Given the description of an element on the screen output the (x, y) to click on. 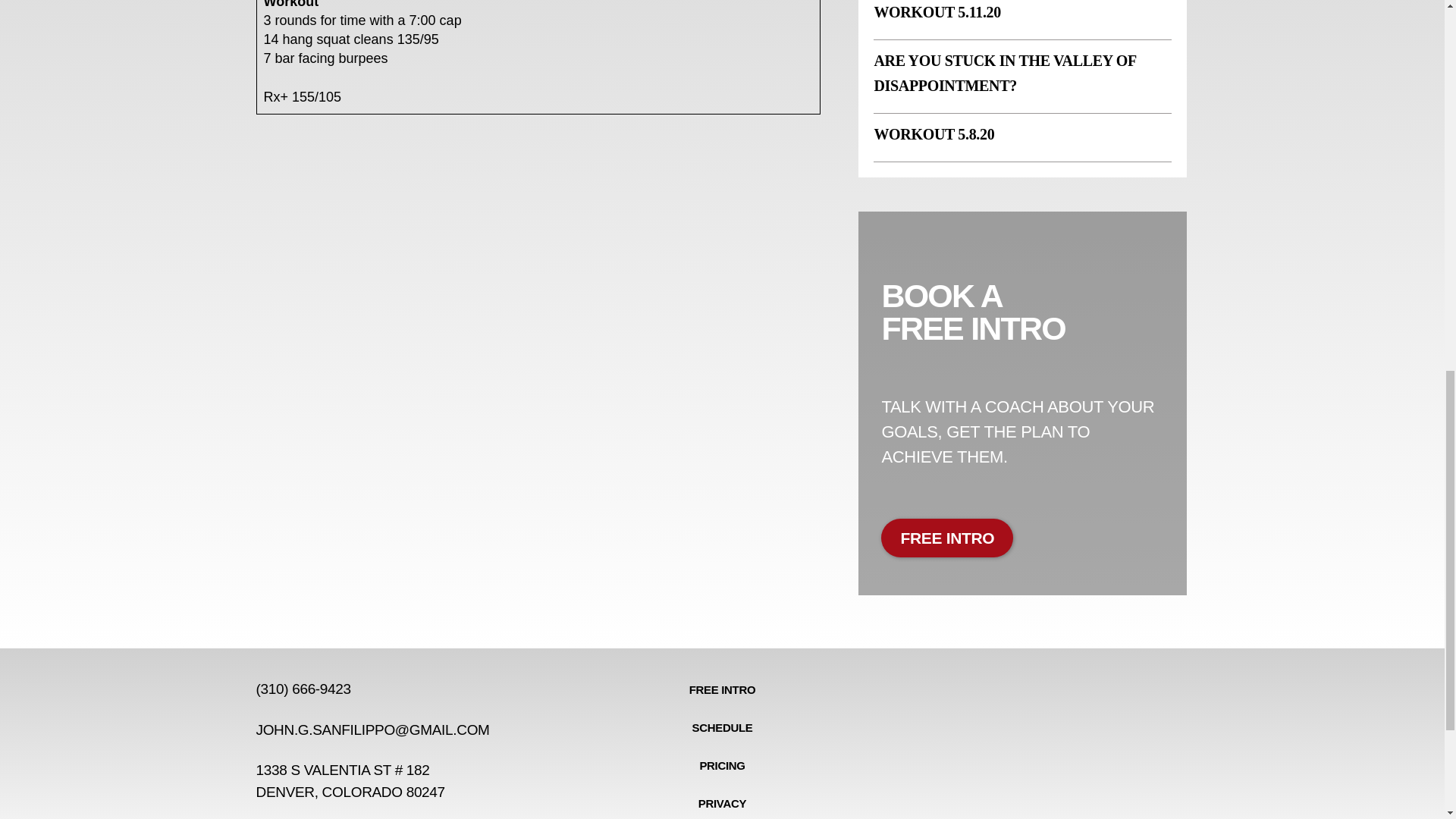
SCHEDULE (722, 727)
FREE INTRO (722, 689)
PRICING (722, 765)
PRIVACY (722, 803)
WORKOUT 5.8.20 (933, 134)
FREE INTRO (946, 537)
WORKOUT 5.11.20 (936, 12)
ARE YOU STUCK IN THE VALLEY OF DISAPPOINTMENT? (1004, 73)
